Given the description of an element on the screen output the (x, y) to click on. 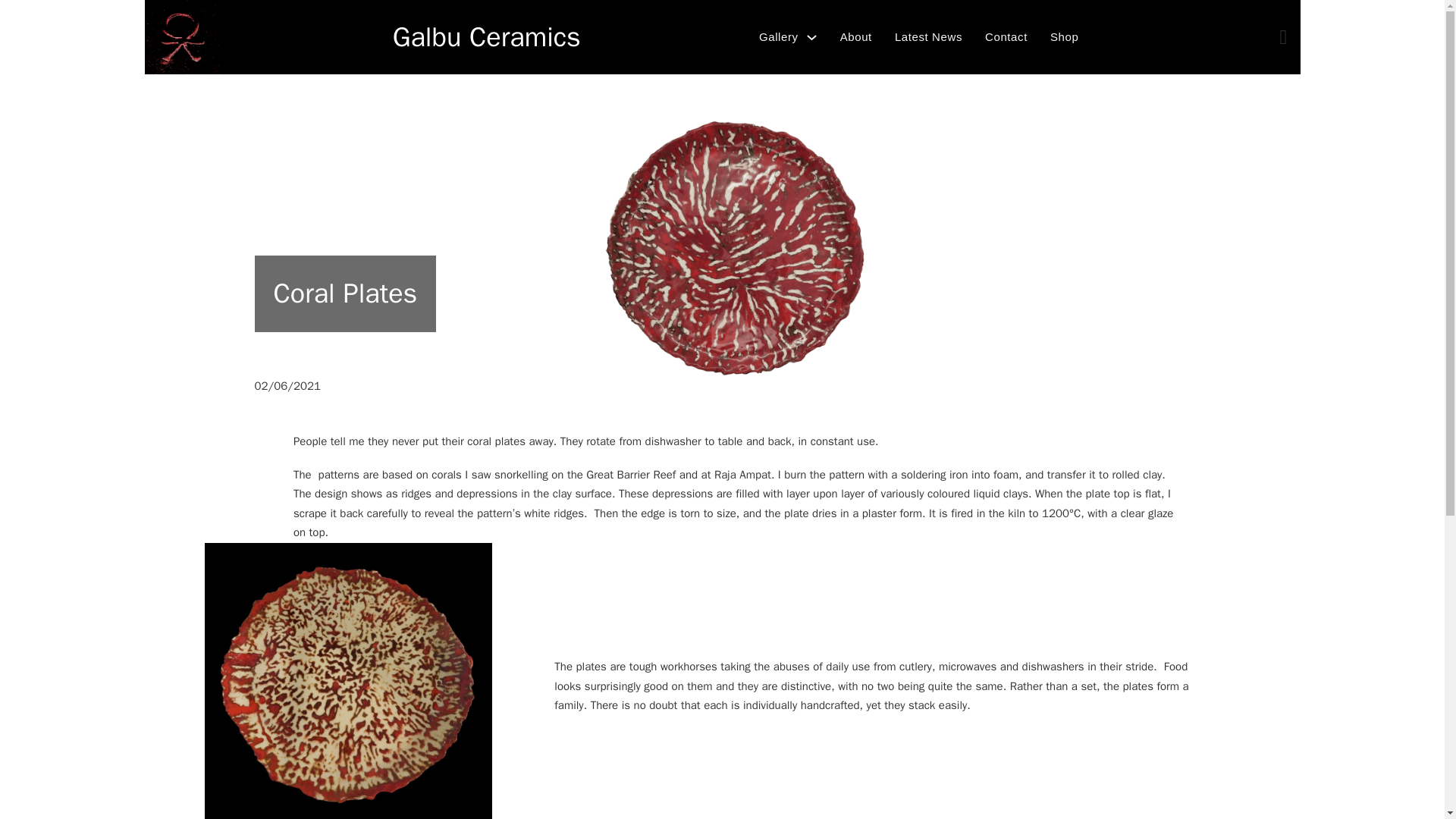
About (856, 37)
Latest News (928, 37)
Contact (1006, 37)
Galbu Ceramics (486, 36)
Gallery (777, 37)
Shop (1063, 37)
